Given the description of an element on the screen output the (x, y) to click on. 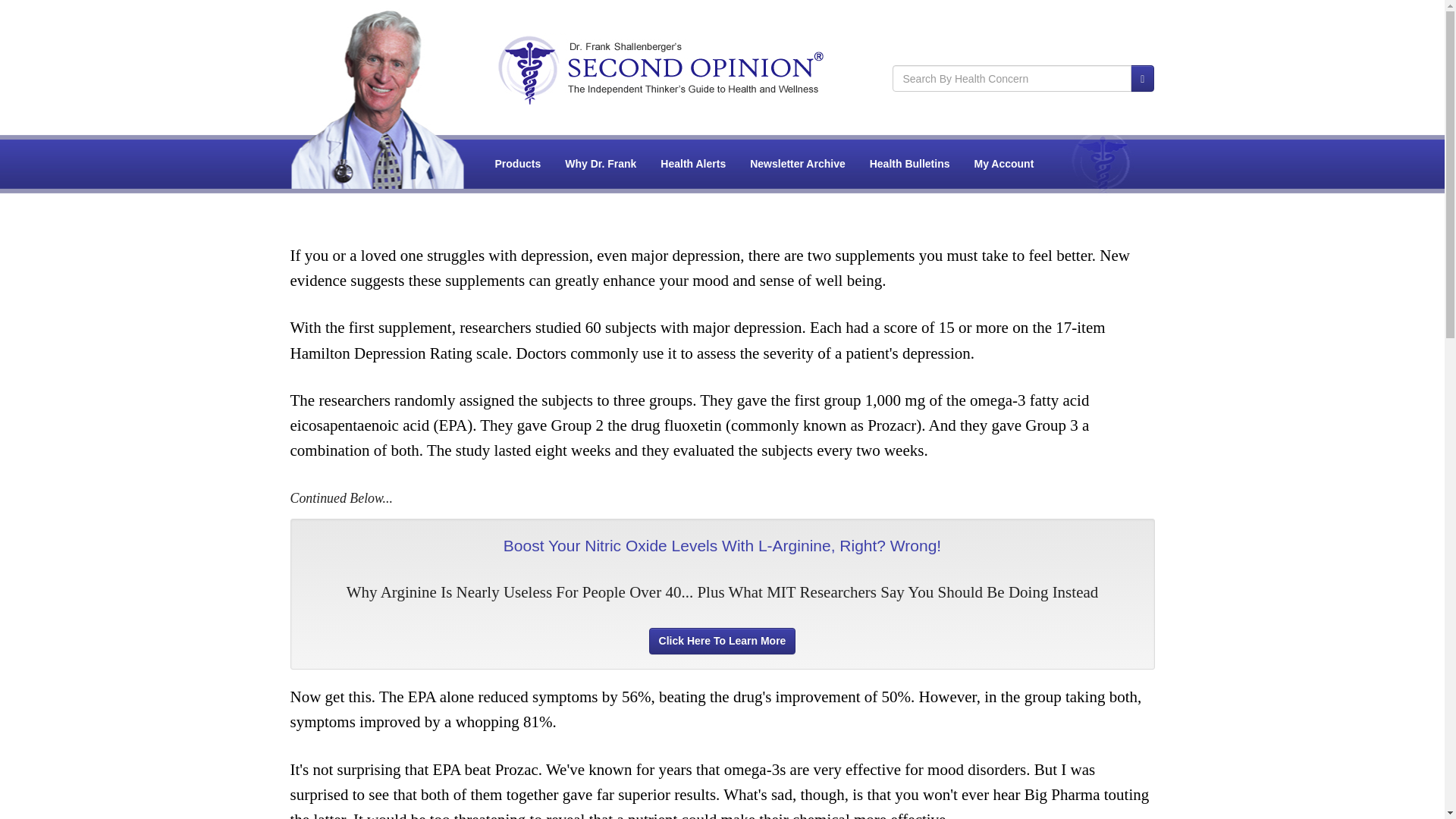
My Account (1003, 164)
Products (518, 164)
Health Alerts (692, 164)
Click Here To Learn More (722, 641)
Health Bulletins (909, 164)
Why Dr. Frank (600, 164)
Newsletter Archive (797, 164)
